Given the description of an element on the screen output the (x, y) to click on. 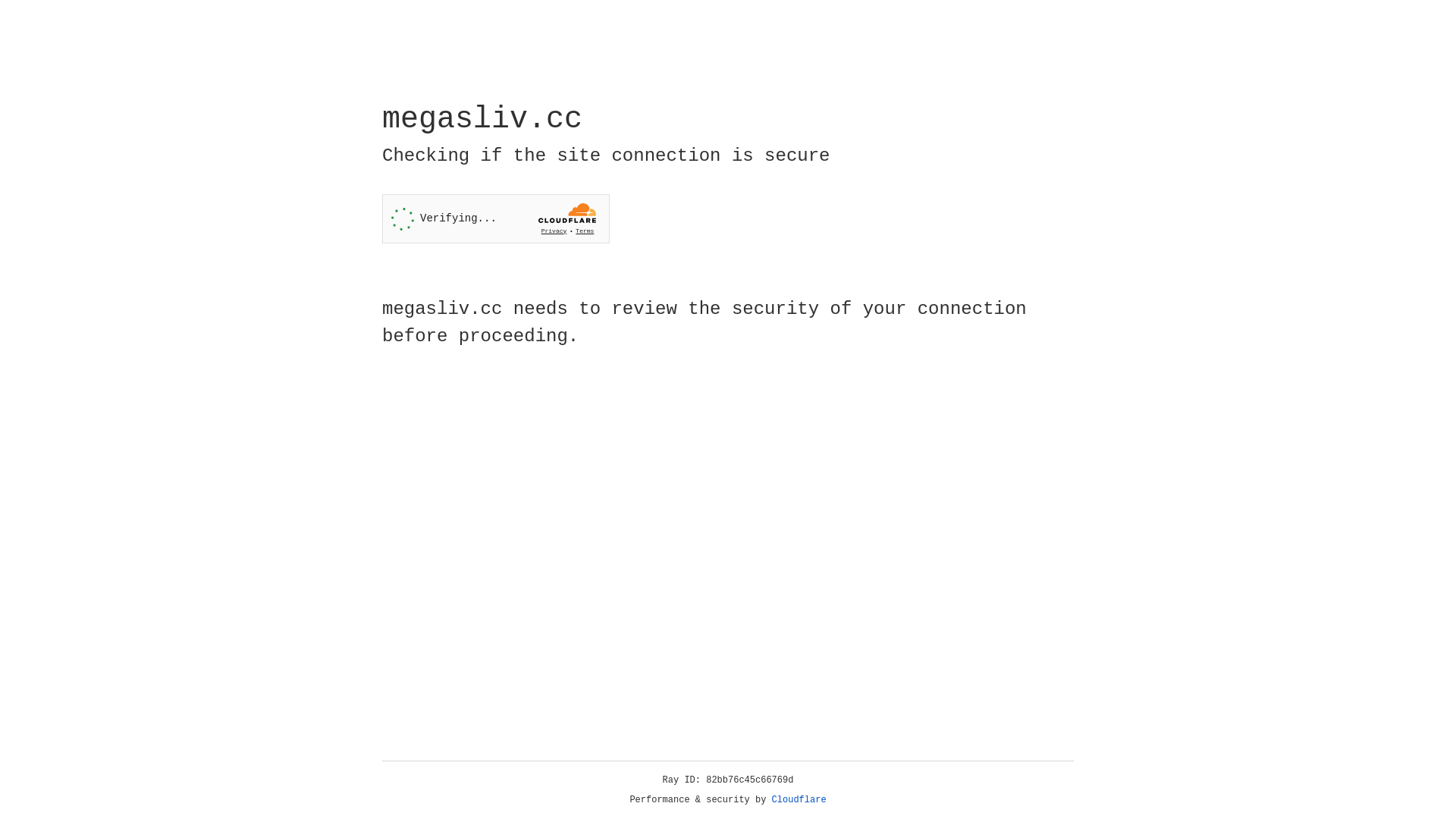
Widget containing a Cloudflare security challenge Element type: hover (495, 218)
Cloudflare Element type: text (798, 799)
